Given the description of an element on the screen output the (x, y) to click on. 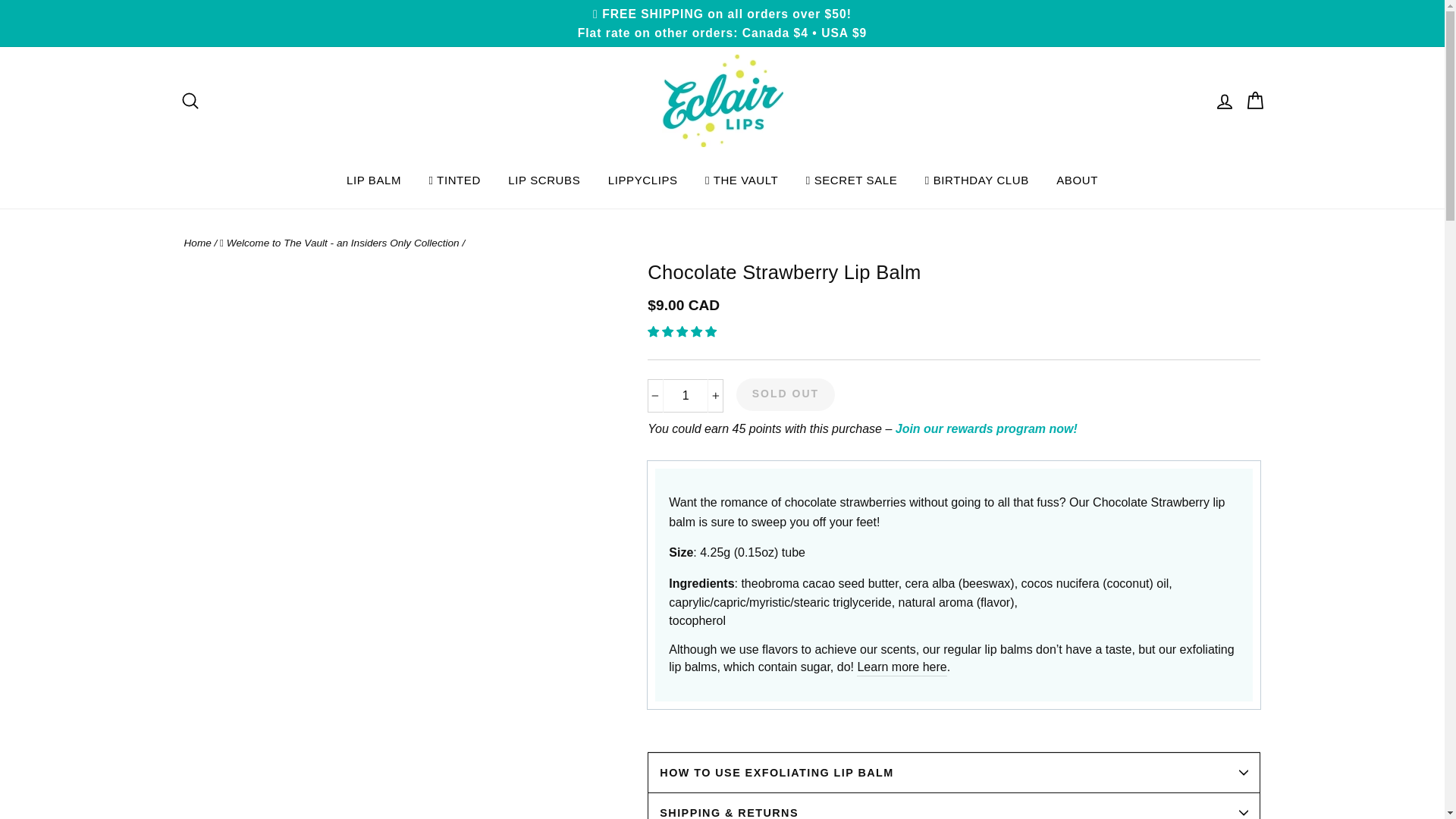
LIPPYCLIPS (642, 179)
Back to the frontpage (197, 242)
LIP BALM (373, 179)
CART (1254, 101)
ABOUT (1076, 179)
LOG IN (1223, 101)
rewards (986, 428)
SEARCH (189, 101)
LIP SCRUBS (544, 179)
1 (685, 395)
